Given the description of an element on the screen output the (x, y) to click on. 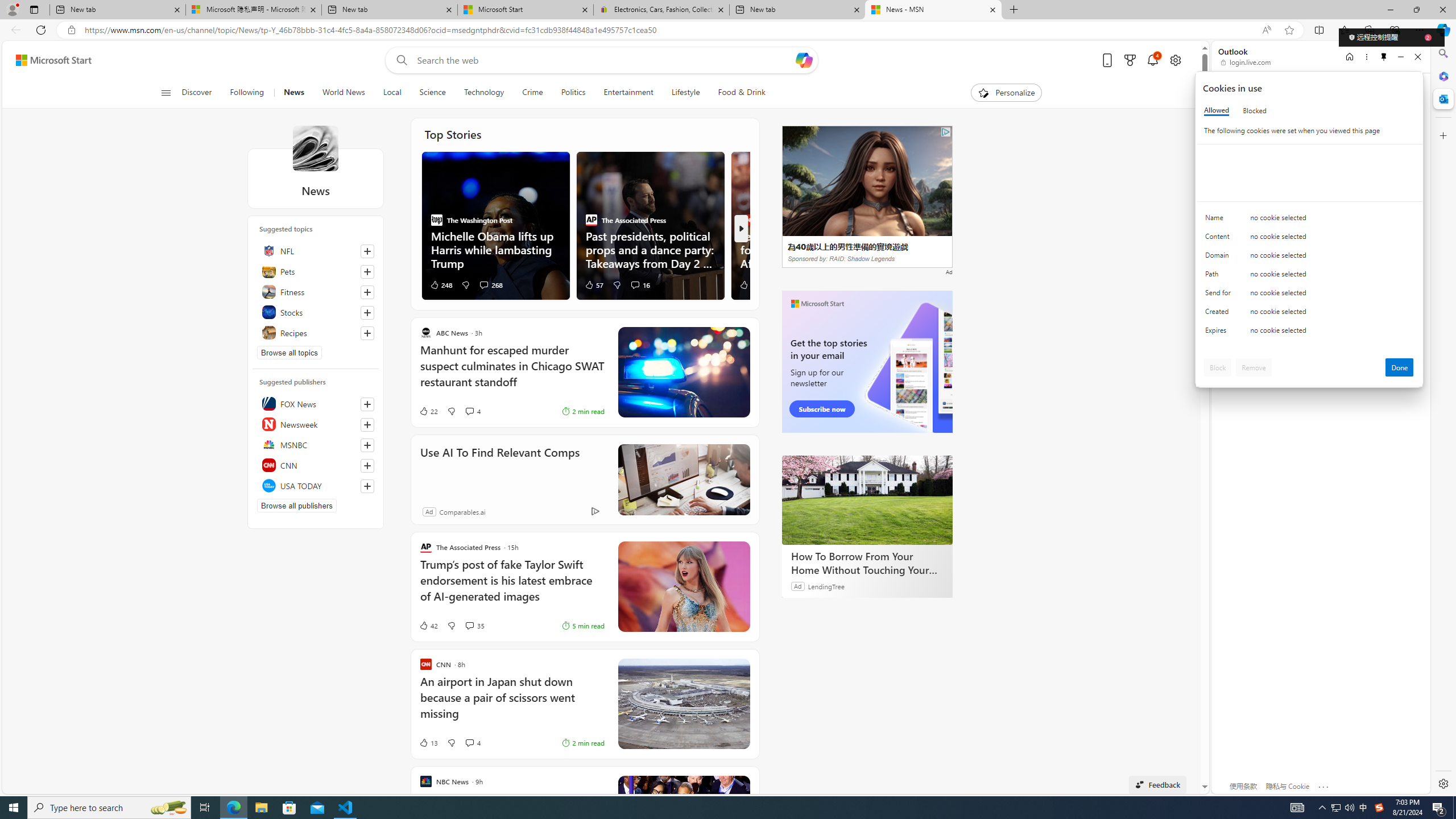
Blocked (1255, 110)
Follow this source (367, 486)
Path (1219, 276)
